Given the description of an element on the screen output the (x, y) to click on. 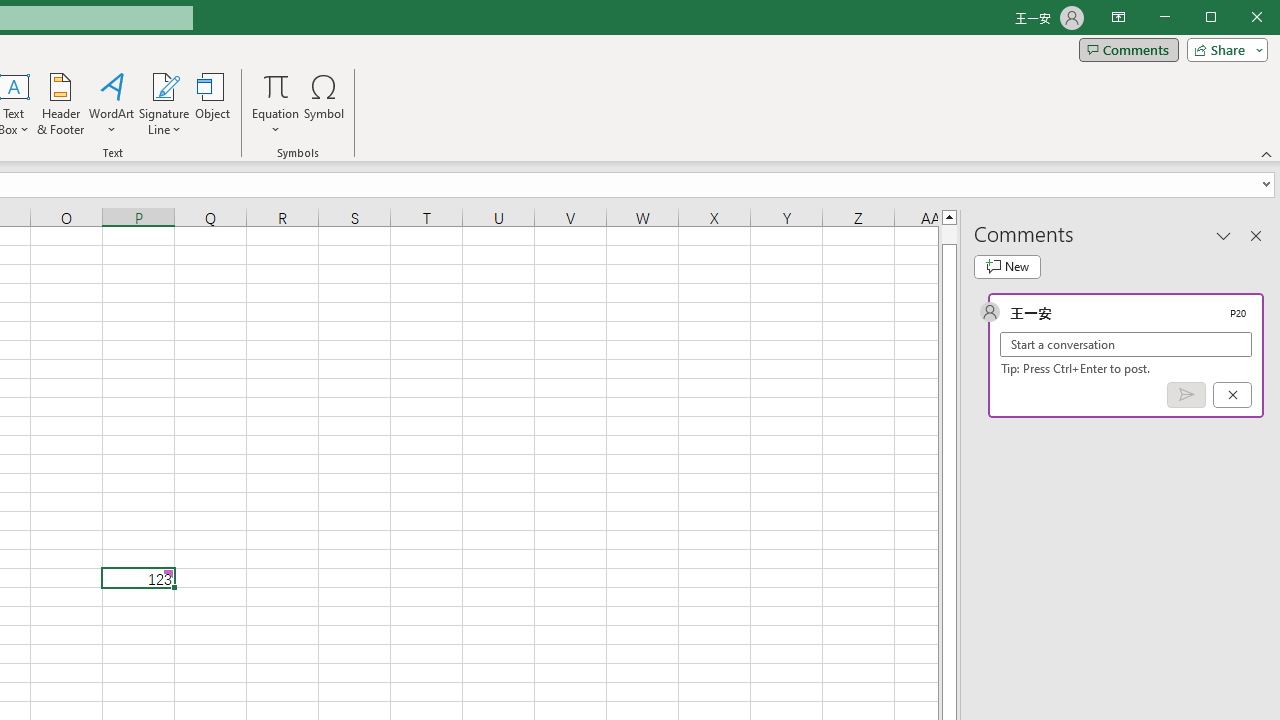
Page up (948, 234)
Equation (275, 104)
WordArt (111, 104)
Signature Line (164, 104)
Cancel (1232, 395)
